Given the description of an element on the screen output the (x, y) to click on. 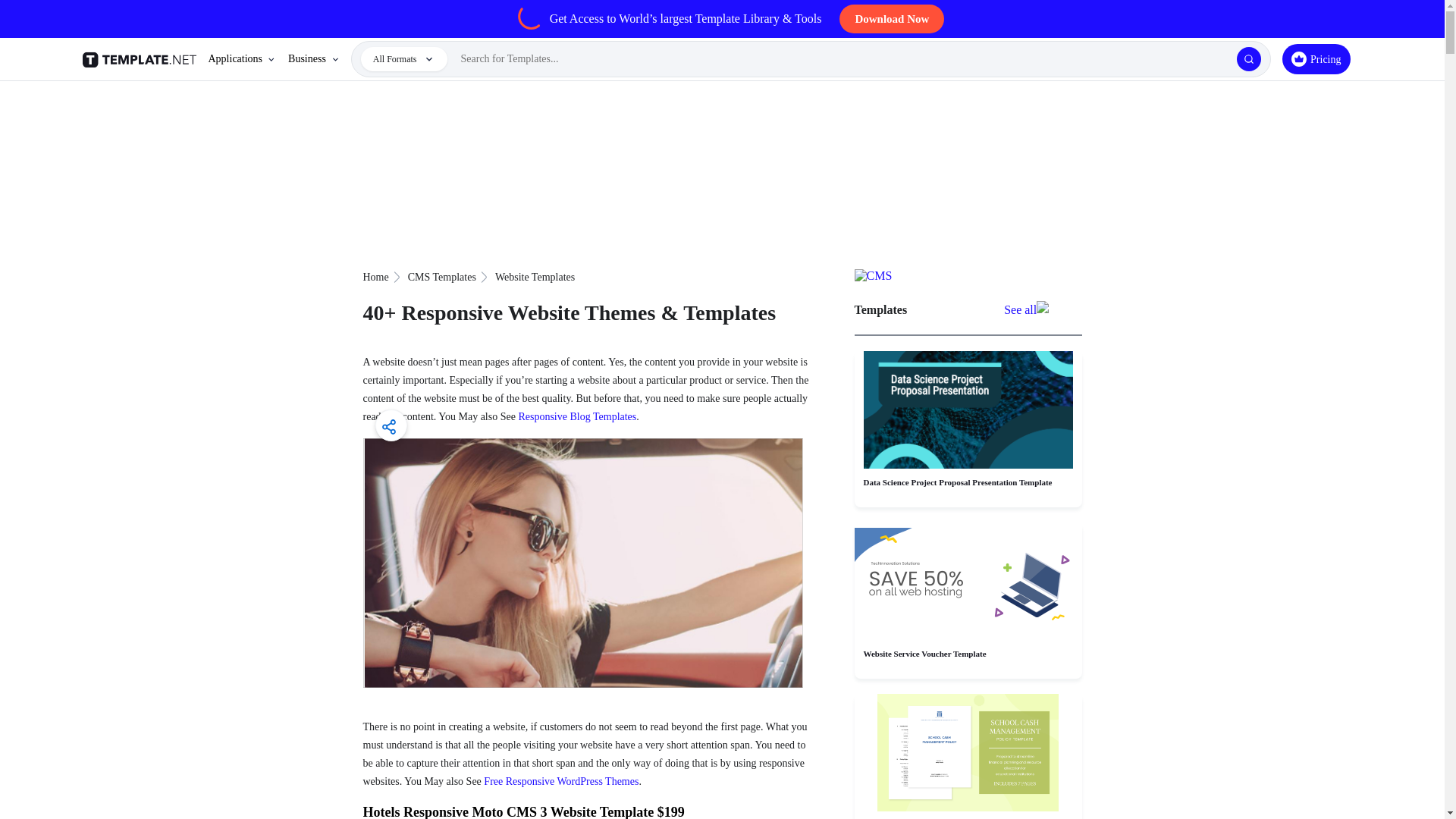
Template.net (141, 59)
Download Now (891, 18)
Pricing (1315, 59)
